Given the description of an element on the screen output the (x, y) to click on. 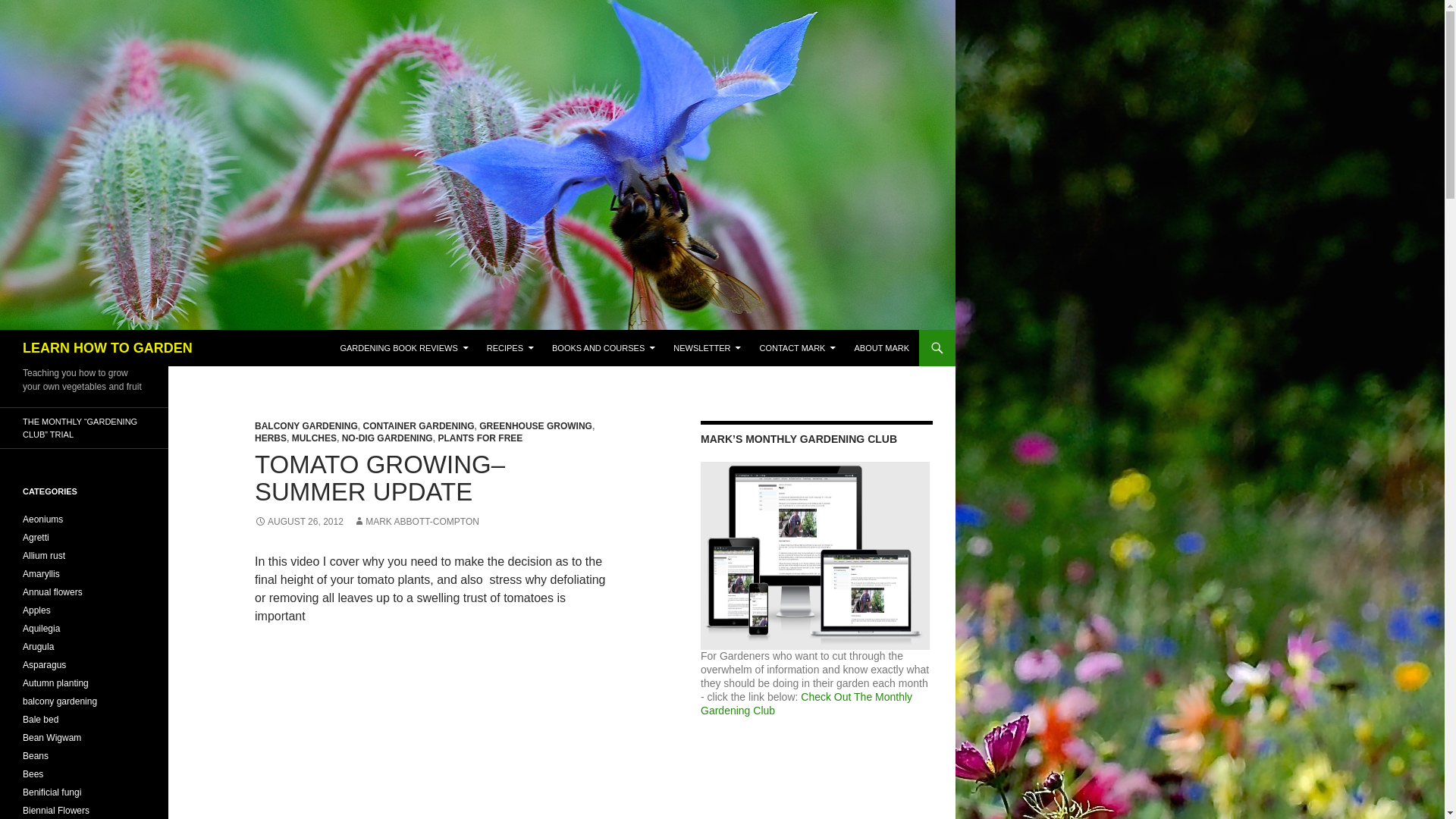
Asparagus (44, 665)
LEARN HOW TO GARDEN (107, 348)
RECIPES (510, 348)
NEWSLETTER (706, 348)
BOOKS AND COURSES (603, 348)
Check Out The Monthly Gardening Club (806, 703)
YouTube video player (434, 731)
GARDENING BOOK REVIEWS (403, 348)
